Given the description of an element on the screen output the (x, y) to click on. 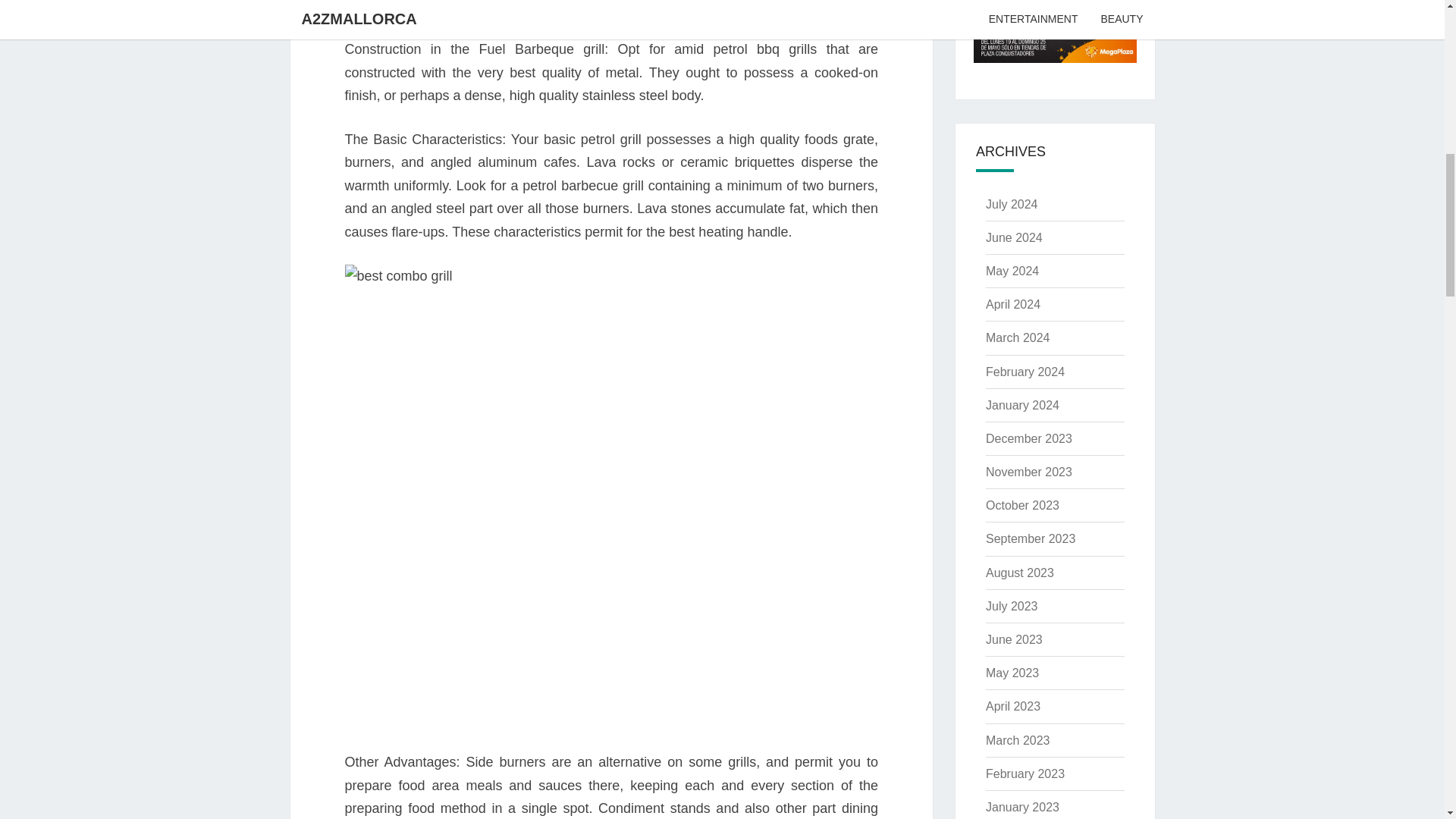
February 2024 (1024, 371)
June 2023 (1013, 639)
May 2023 (1012, 672)
March 2024 (1017, 337)
January 2024 (1022, 404)
March 2023 (1017, 739)
July 2023 (1011, 605)
September 2023 (1030, 538)
June 2024 (1013, 237)
April 2023 (1013, 706)
July 2024 (1011, 204)
December 2023 (1028, 438)
August 2023 (1019, 572)
May 2024 (1012, 270)
January 2023 (1022, 807)
